Given the description of an element on the screen output the (x, y) to click on. 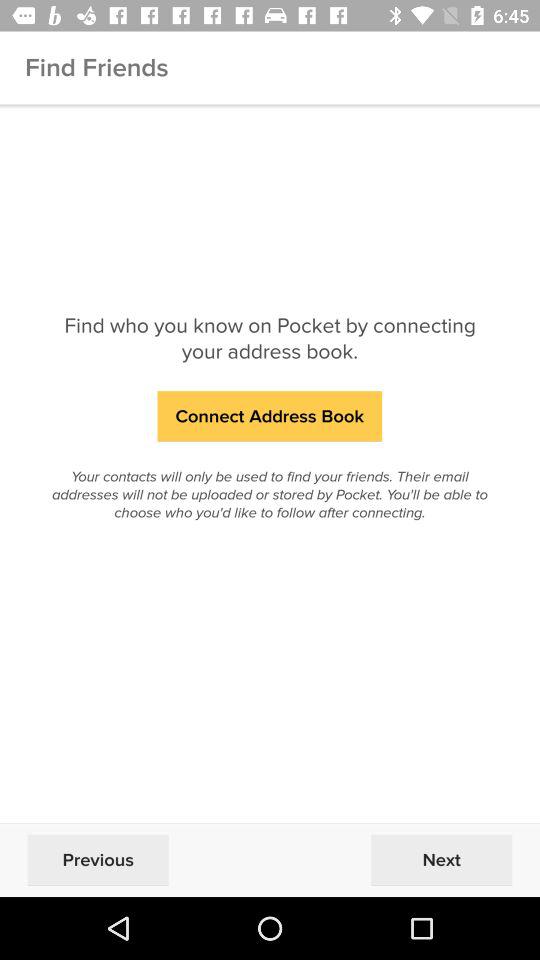
tap the previous (98, 859)
